Given the description of an element on the screen output the (x, y) to click on. 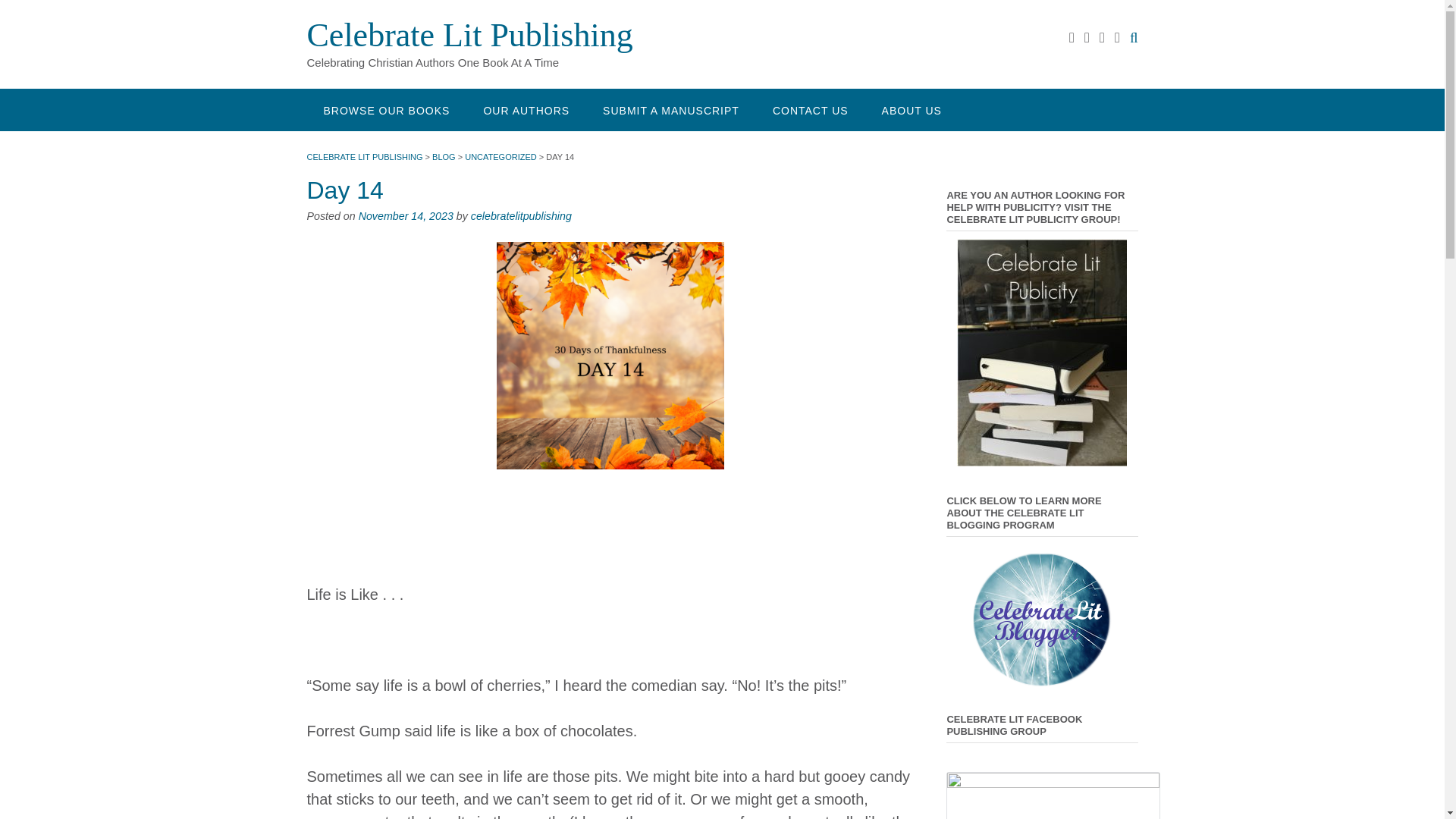
OUR AUTHORS (525, 109)
November 14, 2023 (405, 215)
celebratelitpublishing (521, 215)
BLOG (443, 156)
SUBMIT A MANUSCRIPT (670, 109)
BROWSE OUR BOOKS (385, 109)
Go to Celebrate Lit Publishing. (363, 156)
CELEBRATE LIT PUBLISHING (363, 156)
Celebrate Lit Publishing (468, 35)
Celebrate Lit Publishing (468, 35)
